Given the description of an element on the screen output the (x, y) to click on. 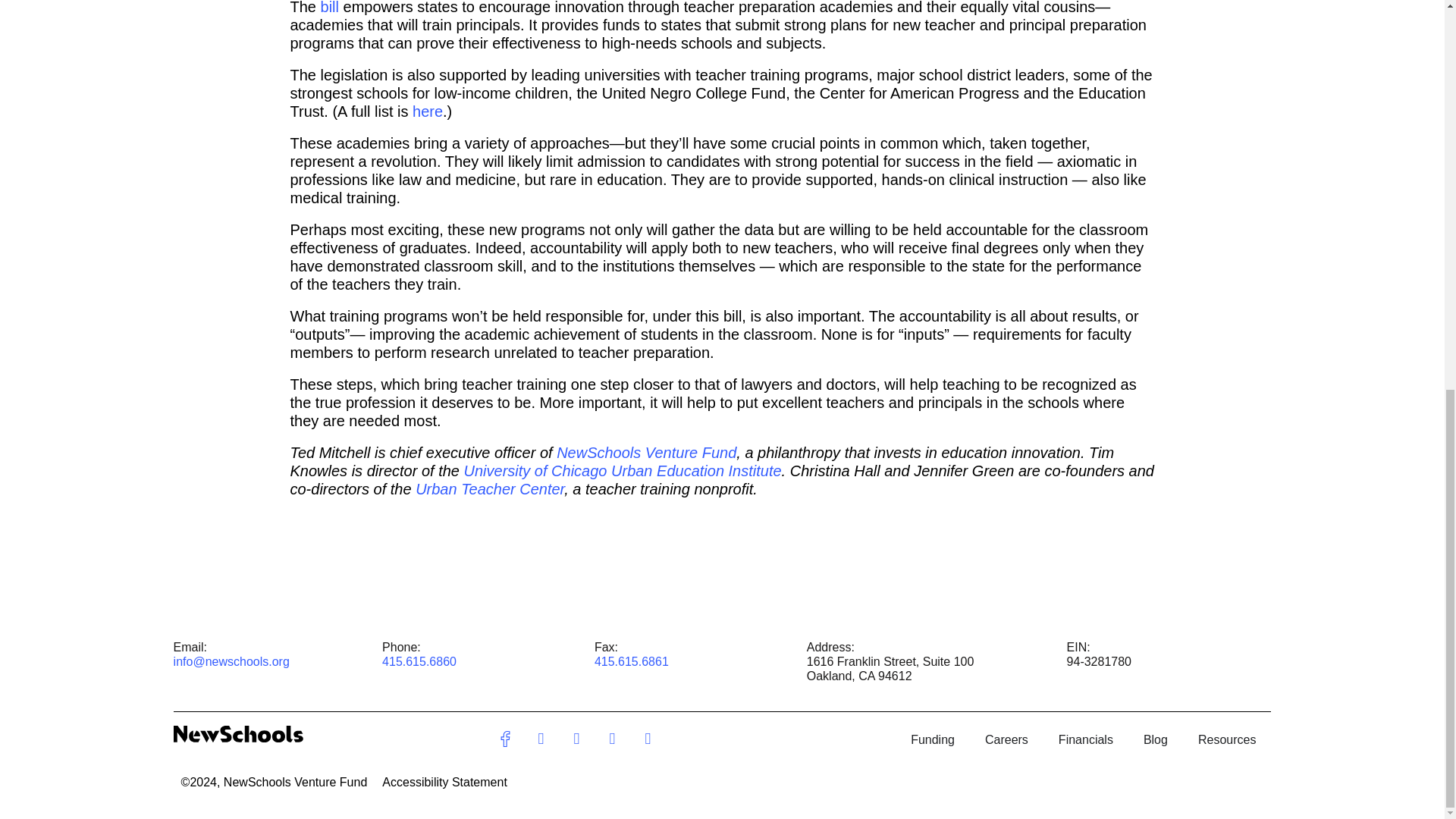
University of Chicago Urban Education Institute (622, 470)
NewSchools Venture Fund (646, 452)
bill (329, 7)
here (427, 111)
